Given the description of an element on the screen output the (x, y) to click on. 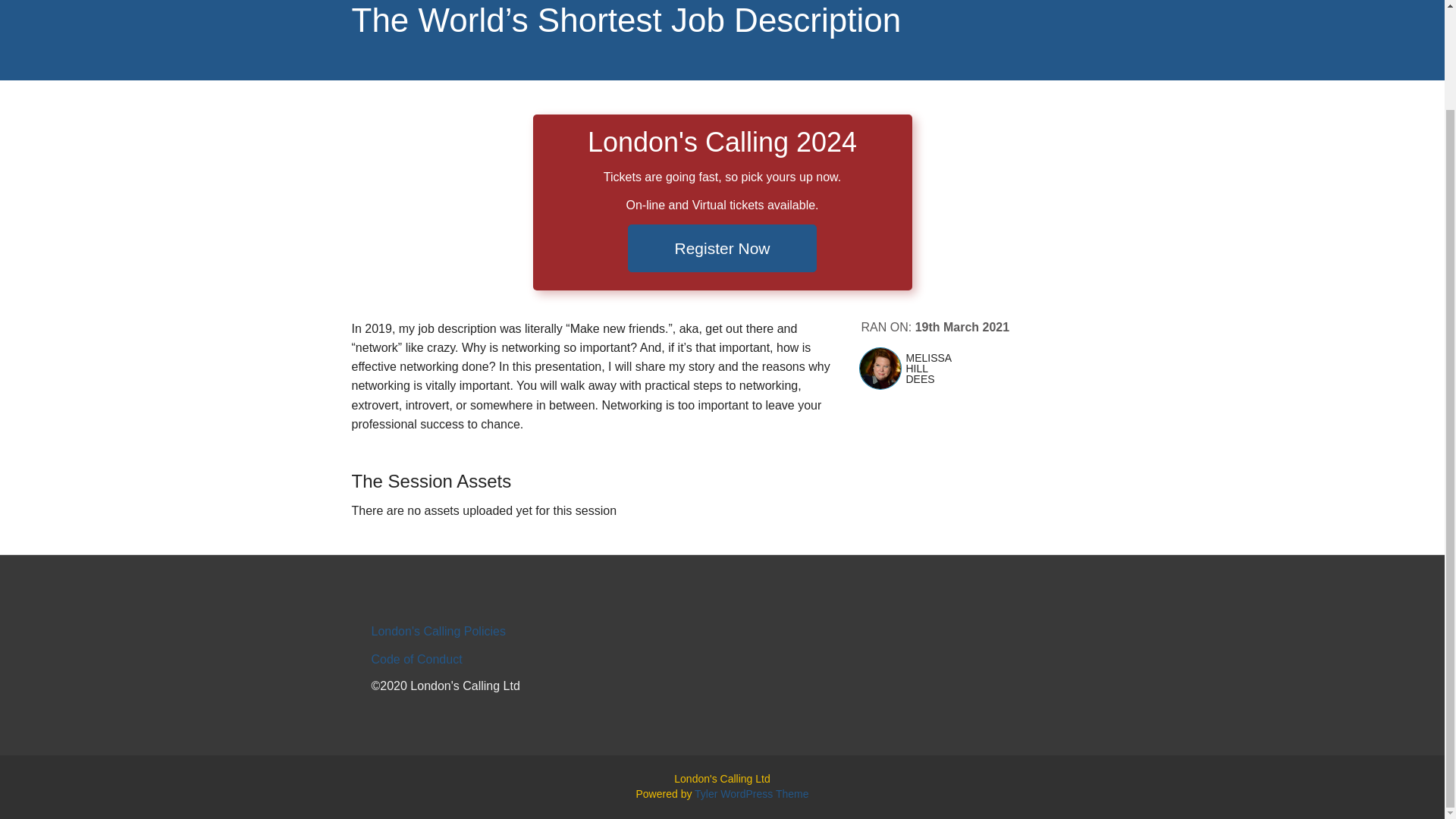
Melissa Hill Dees (880, 368)
Register Now (721, 248)
London's Calling Policies (438, 631)
Code of Conduct (417, 658)
MELISSA HILL DEES (964, 368)
Tyler WordPress Theme (751, 793)
